Given the description of an element on the screen output the (x, y) to click on. 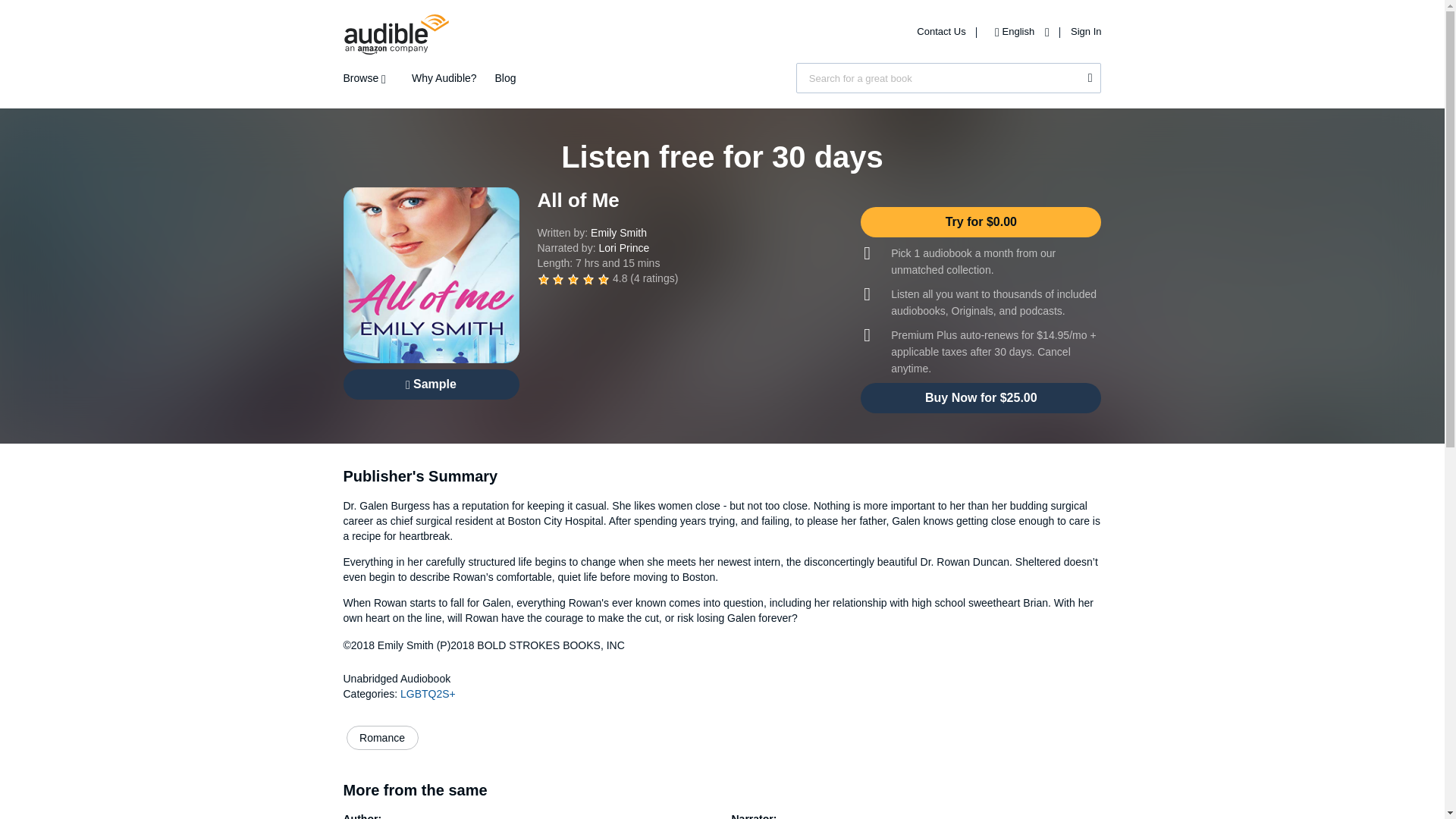
English (1018, 30)
Contact Us (942, 30)
Blog (505, 78)
Browse (367, 78)
Sign In (1085, 30)
Sample (430, 384)
Lori Prince (623, 247)
Emily Smith (618, 232)
Why Audible? (444, 78)
